Given the description of an element on the screen output the (x, y) to click on. 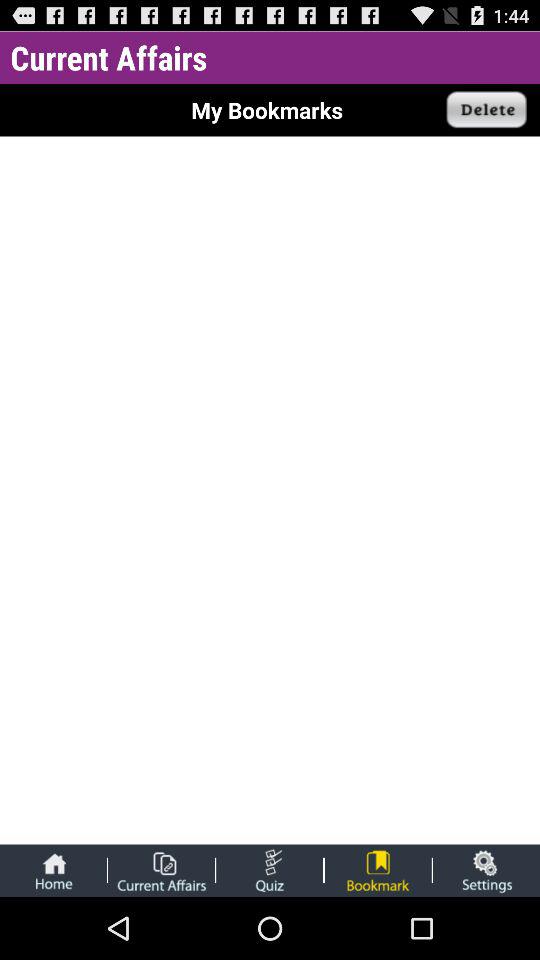
start quiz (269, 870)
